Given the description of an element on the screen output the (x, y) to click on. 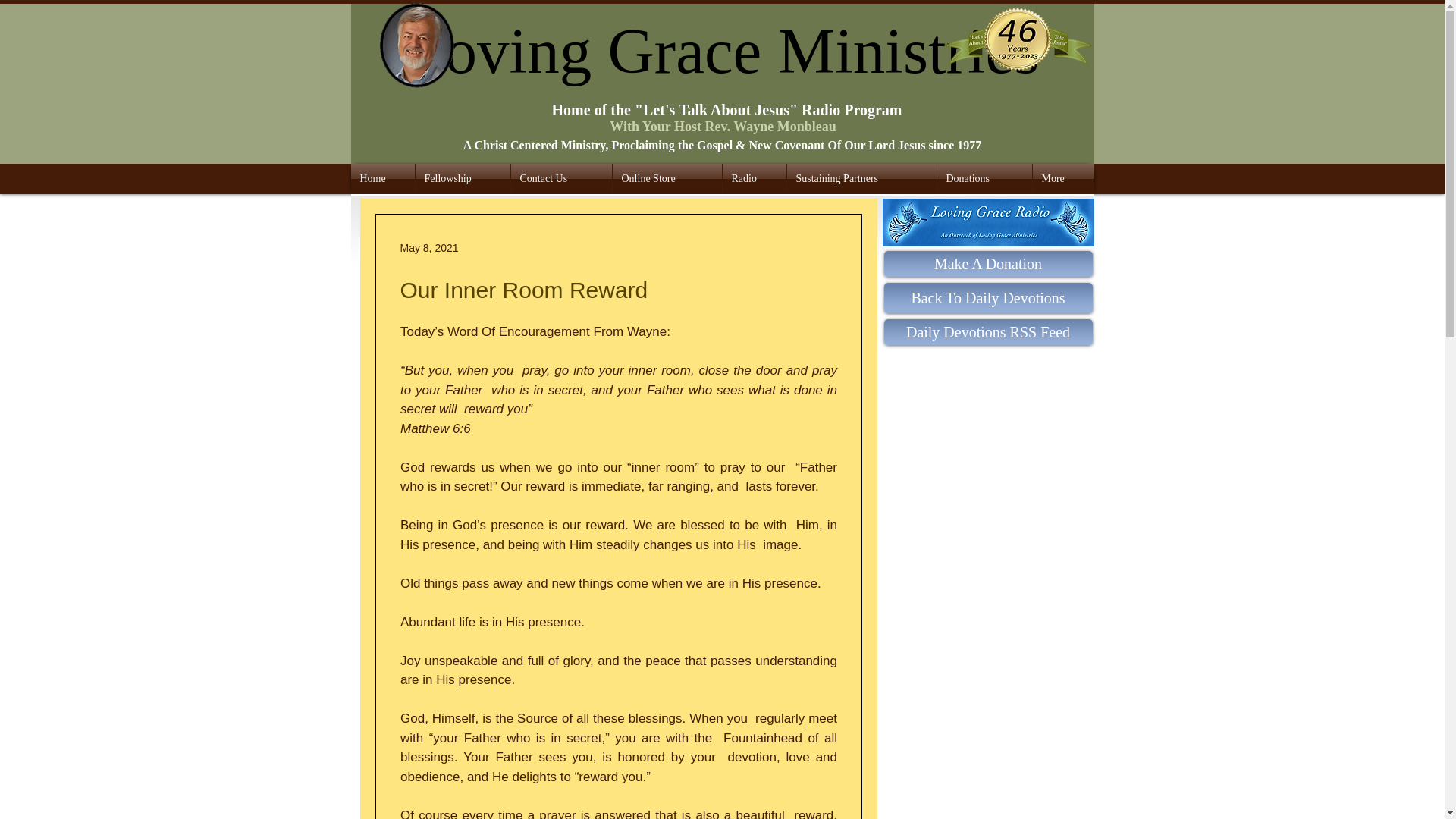
Online Store (667, 178)
Sustaining Partners (861, 178)
logo41.png (1017, 43)
Donations (984, 178)
Wayne Monbleau (418, 45)
May 8, 2021 (429, 246)
Fellowship (462, 178)
Home (381, 178)
Contact Us (561, 178)
Radio (754, 178)
